Given the description of an element on the screen output the (x, y) to click on. 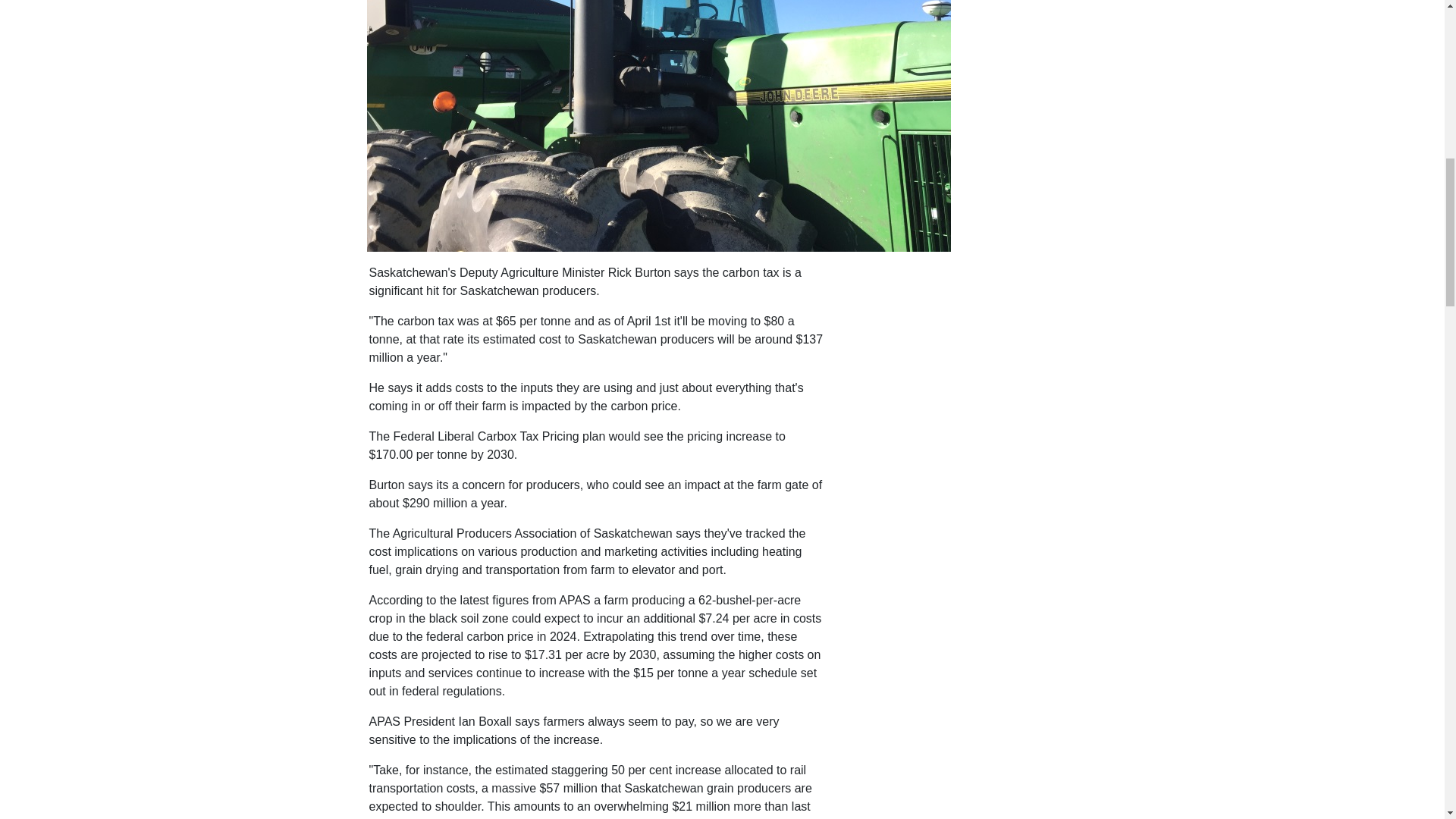
3rd party ad content (961, 651)
3rd party ad content (961, 358)
